Given the description of an element on the screen output the (x, y) to click on. 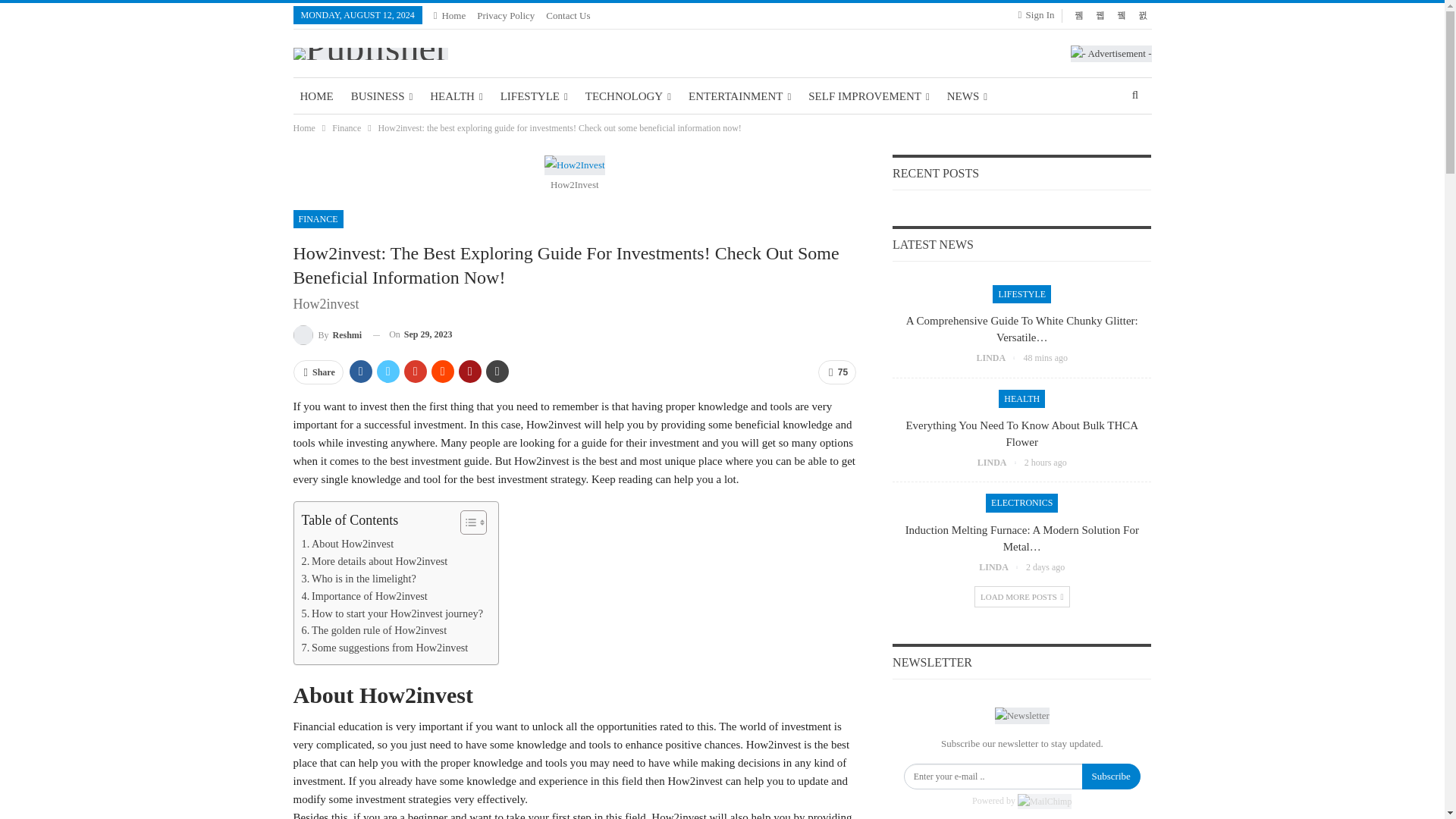
Contact Us (567, 15)
LIFESTYLE (534, 95)
Importance of How2invest (364, 596)
HEALTH (456, 95)
HOME (315, 95)
Sign In (1039, 14)
Some suggestions from How2invest (384, 647)
Home (449, 15)
How to start your How2invest journey? (392, 613)
Privacy Policy (505, 15)
